Given the description of an element on the screen output the (x, y) to click on. 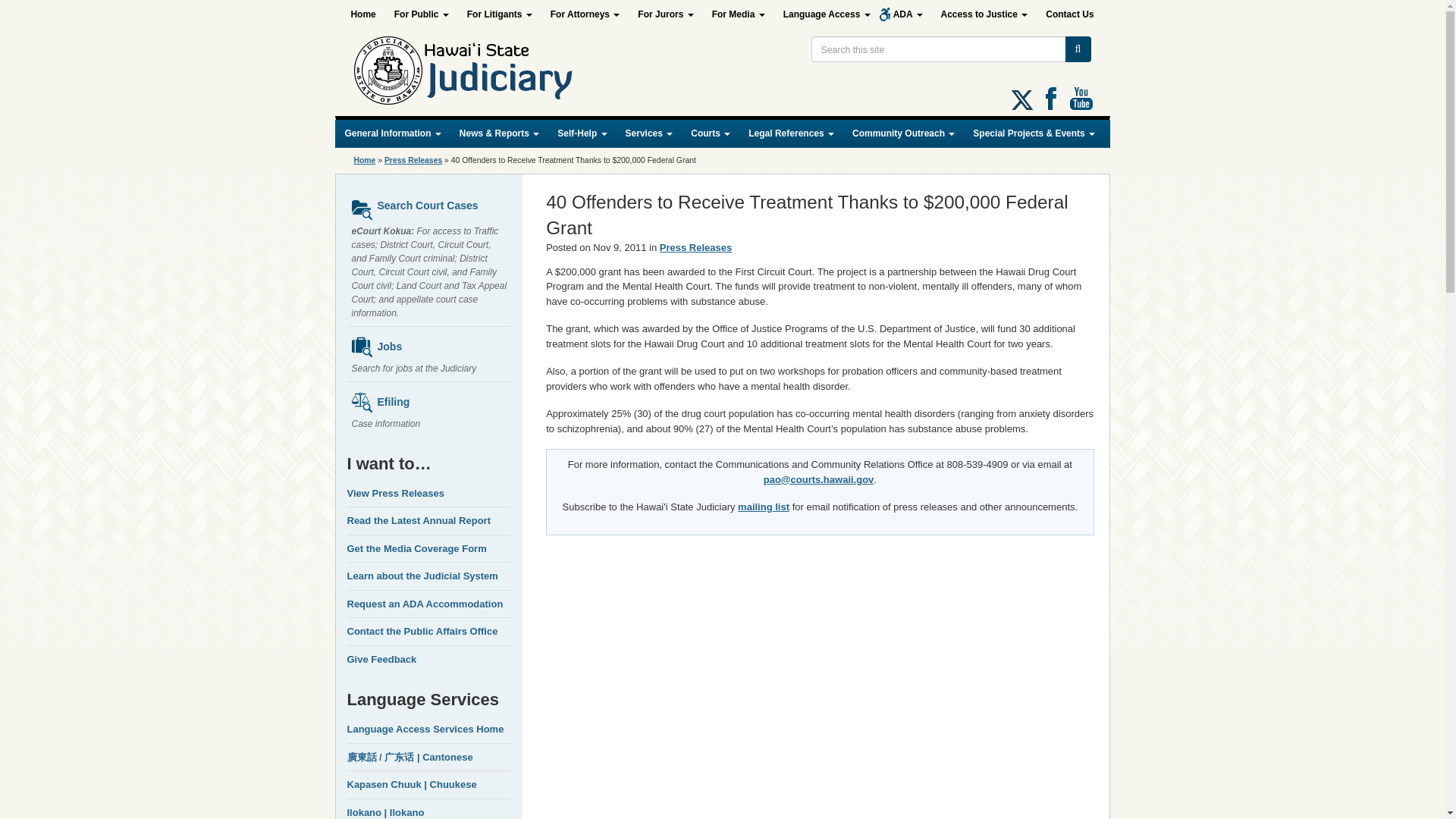
Follow us on Youtube (1080, 97)
Self-Help (581, 133)
Search the site (937, 49)
Follow us on X (1021, 99)
General Information (391, 133)
Follow us on Facebook (1050, 97)
